Given the description of an element on the screen output the (x, y) to click on. 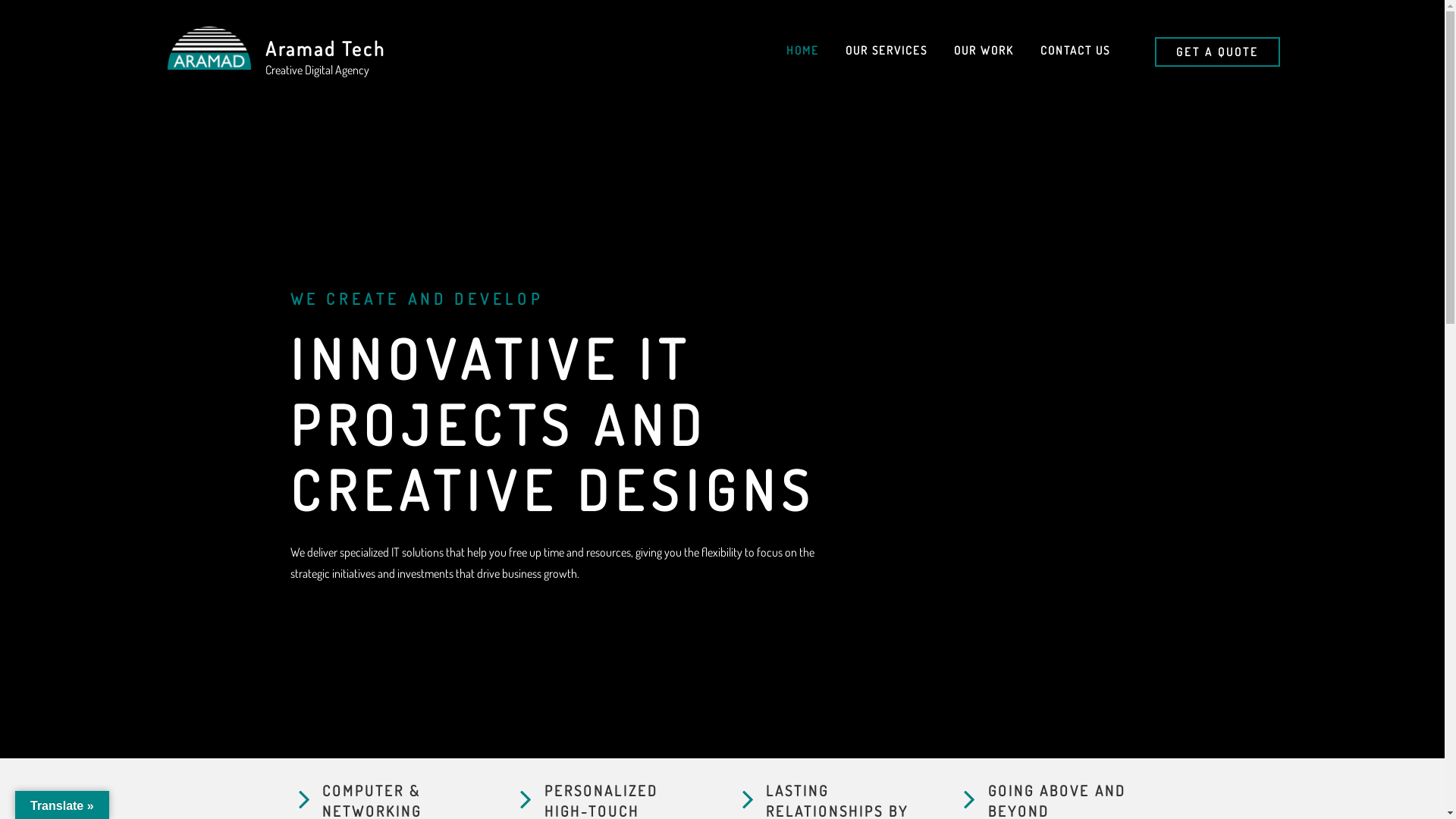
HOME Element type: text (802, 50)
CONTACT US Element type: text (1075, 50)
Aramad Tech Element type: text (325, 48)
OUR SERVICES Element type: text (886, 50)
OUR WORK Element type: text (983, 50)
GET A QUOTE Element type: text (1216, 51)
